Given the description of an element on the screen output the (x, y) to click on. 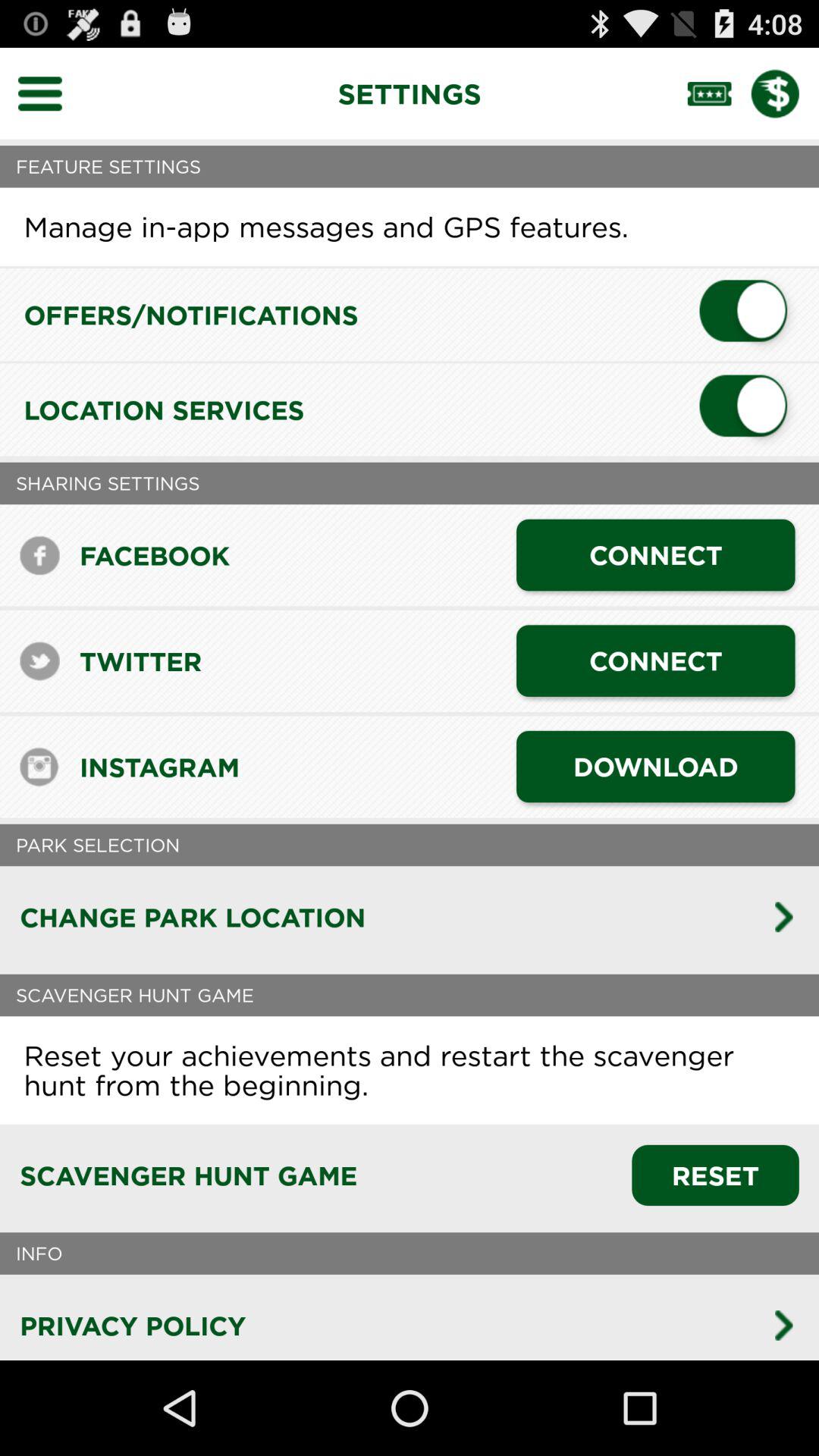
swipe until the download item (655, 766)
